Given the description of an element on the screen output the (x, y) to click on. 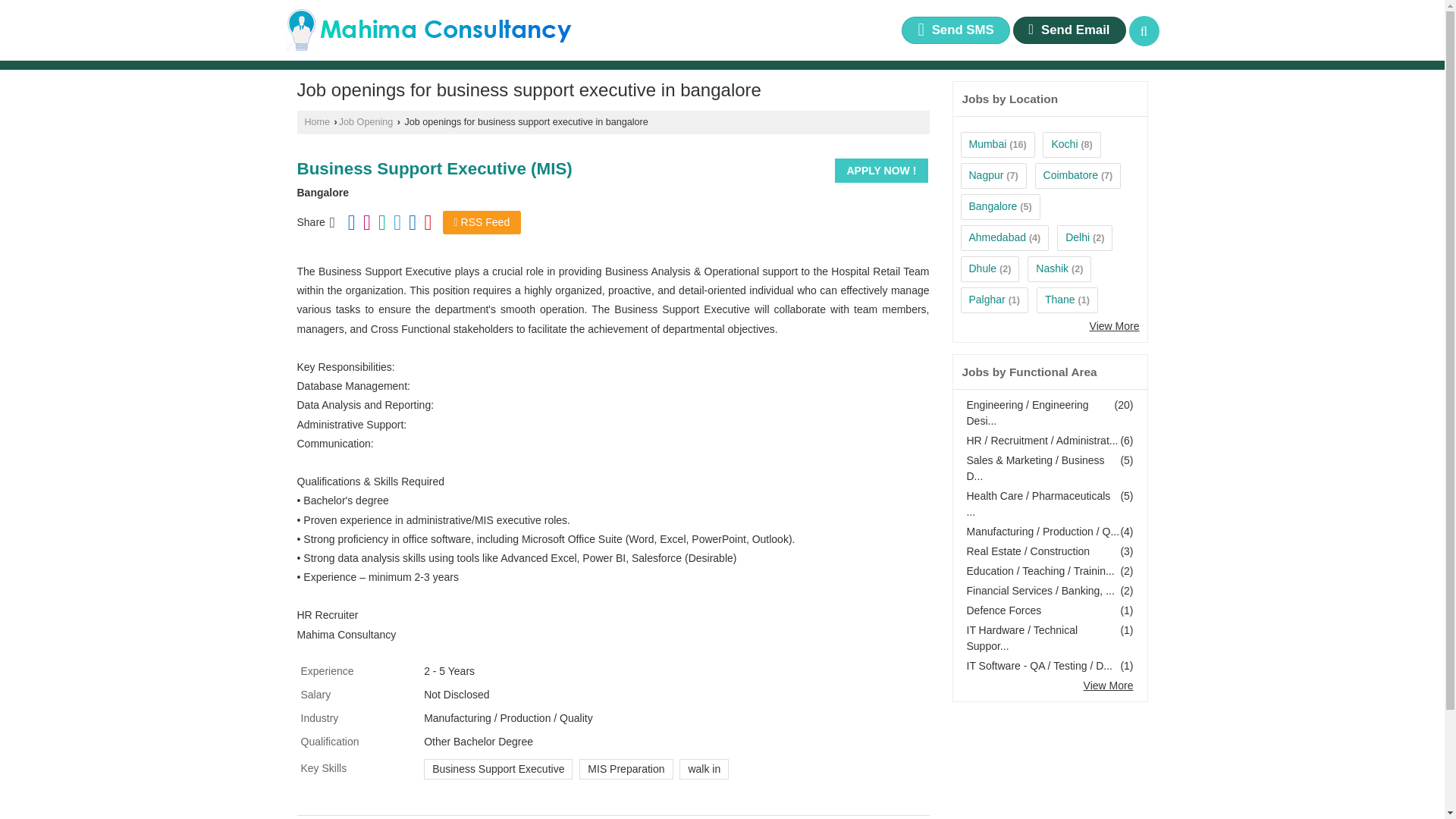
Home (317, 122)
Kochi (1064, 143)
APPLY NOW ! (881, 170)
Ahmedabad (997, 236)
Job Opening (366, 122)
Job Opening (366, 122)
APPLY NOW ! (881, 170)
Coimbatore (1070, 174)
Bangalore (993, 205)
Mumbai (988, 143)
